Given the description of an element on the screen output the (x, y) to click on. 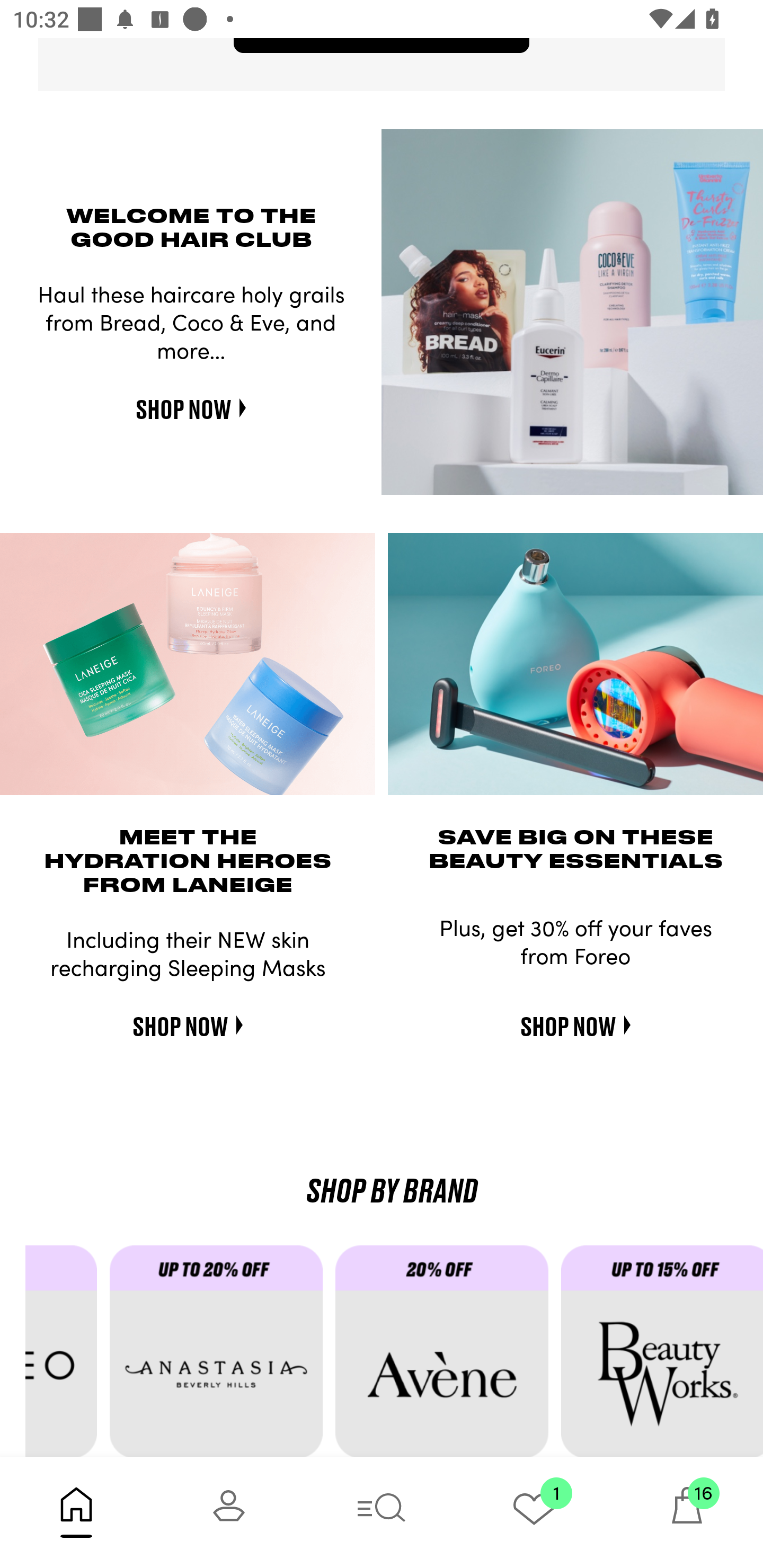
1 (533, 1512)
16 (686, 1512)
